Given the description of an element on the screen output the (x, y) to click on. 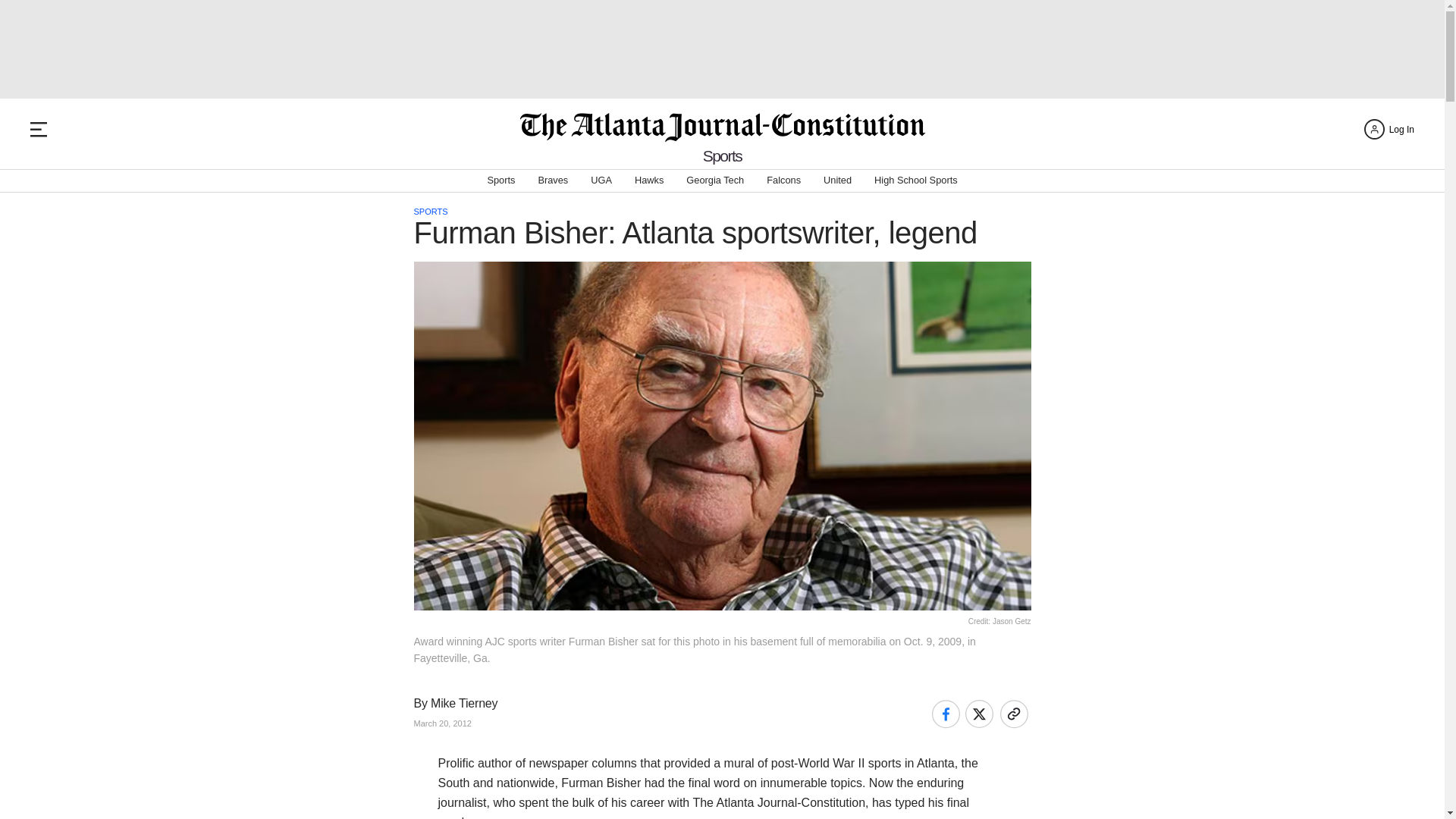
Sports (722, 155)
UGA (601, 180)
Hawks (648, 180)
Falcons (783, 180)
Georgia Tech (714, 180)
High School Sports (916, 180)
Braves (552, 180)
United (837, 180)
Sports (500, 180)
